Given the description of an element on the screen output the (x, y) to click on. 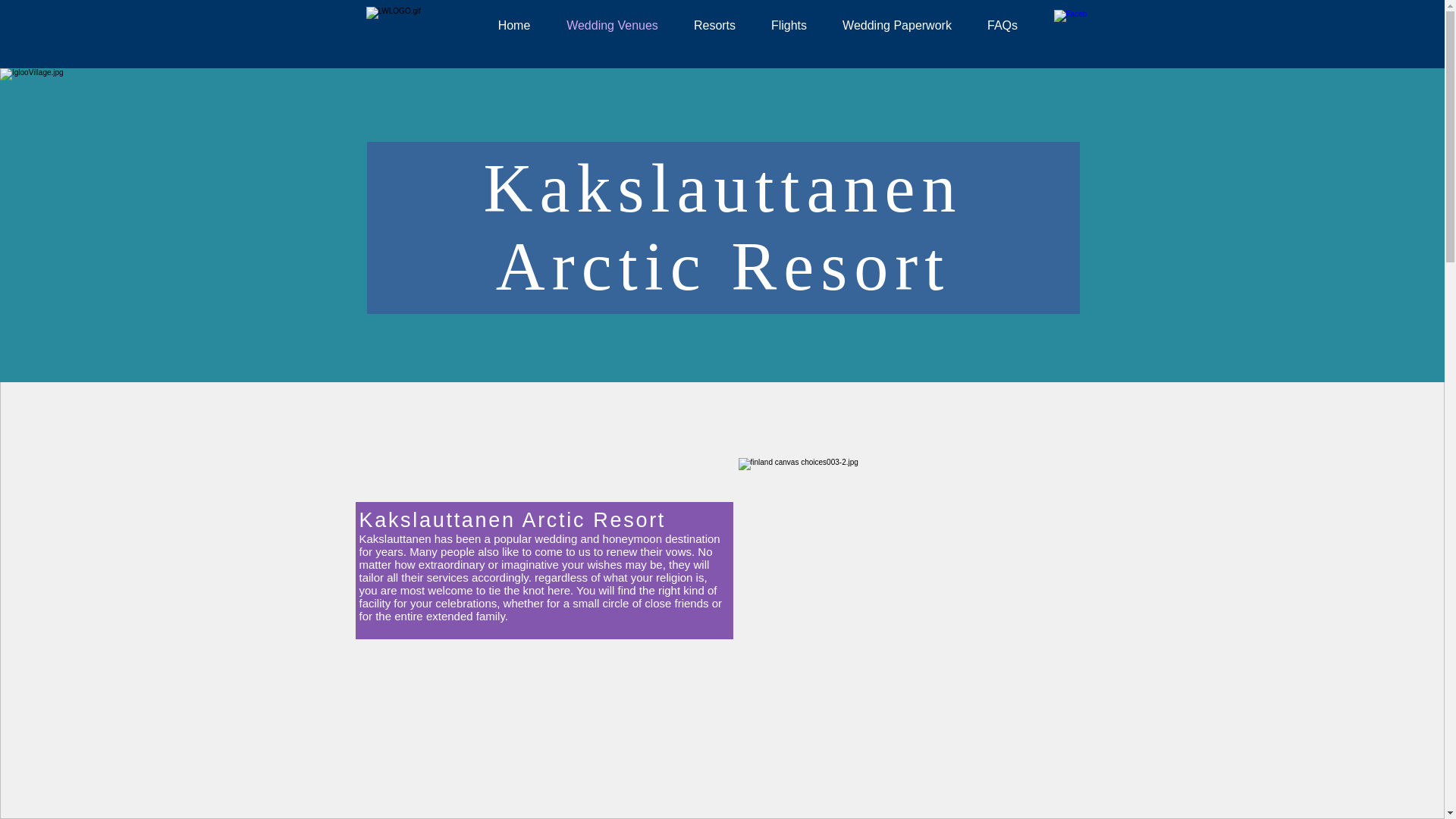
Wedding Paperwork (897, 25)
Resorts (715, 25)
FAQs (1002, 25)
Flights (789, 25)
Wedding Venues (612, 25)
Home (513, 25)
